Given the description of an element on the screen output the (x, y) to click on. 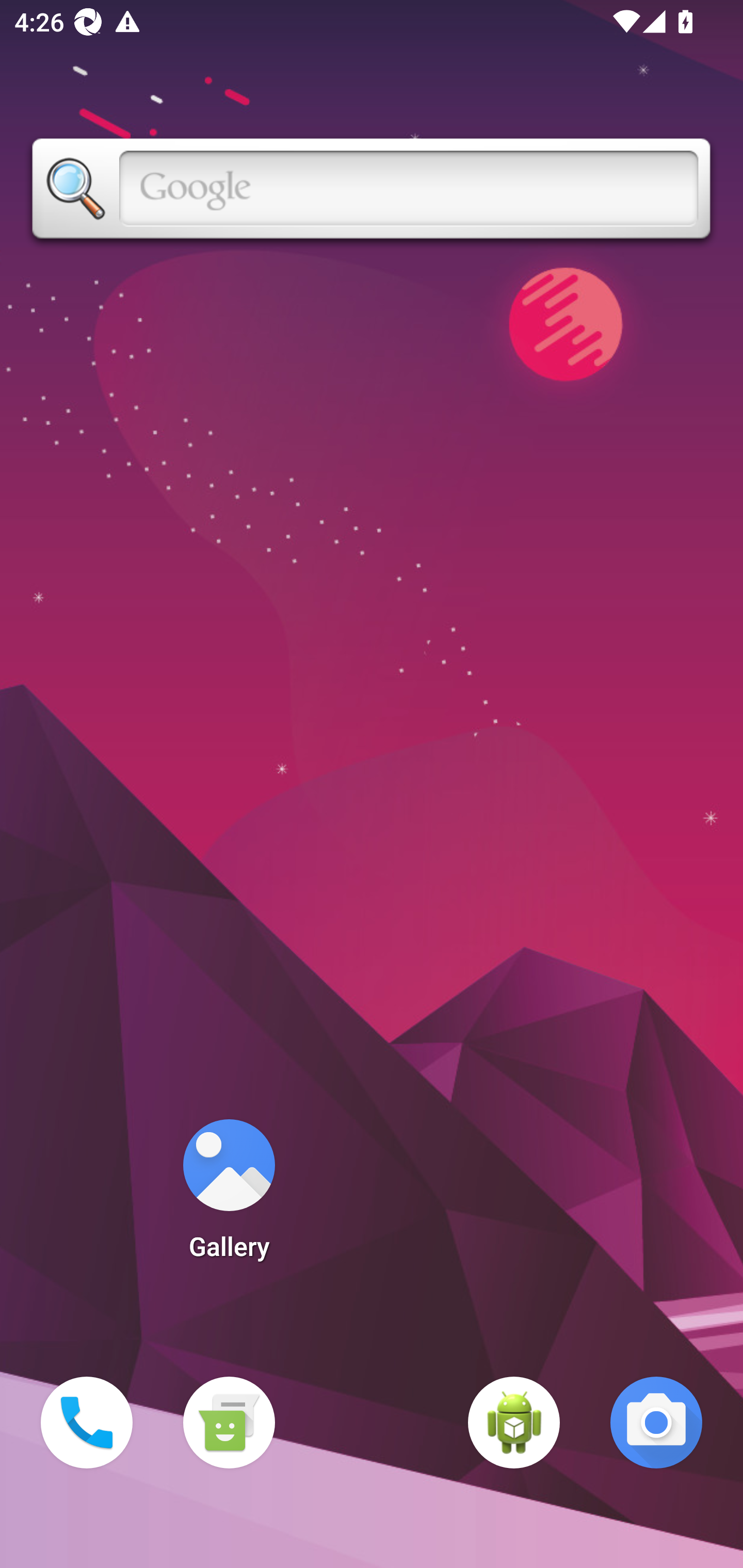
Gallery (228, 1195)
Phone (86, 1422)
Messaging (228, 1422)
WebView Browser Tester (513, 1422)
Camera (656, 1422)
